Given the description of an element on the screen output the (x, y) to click on. 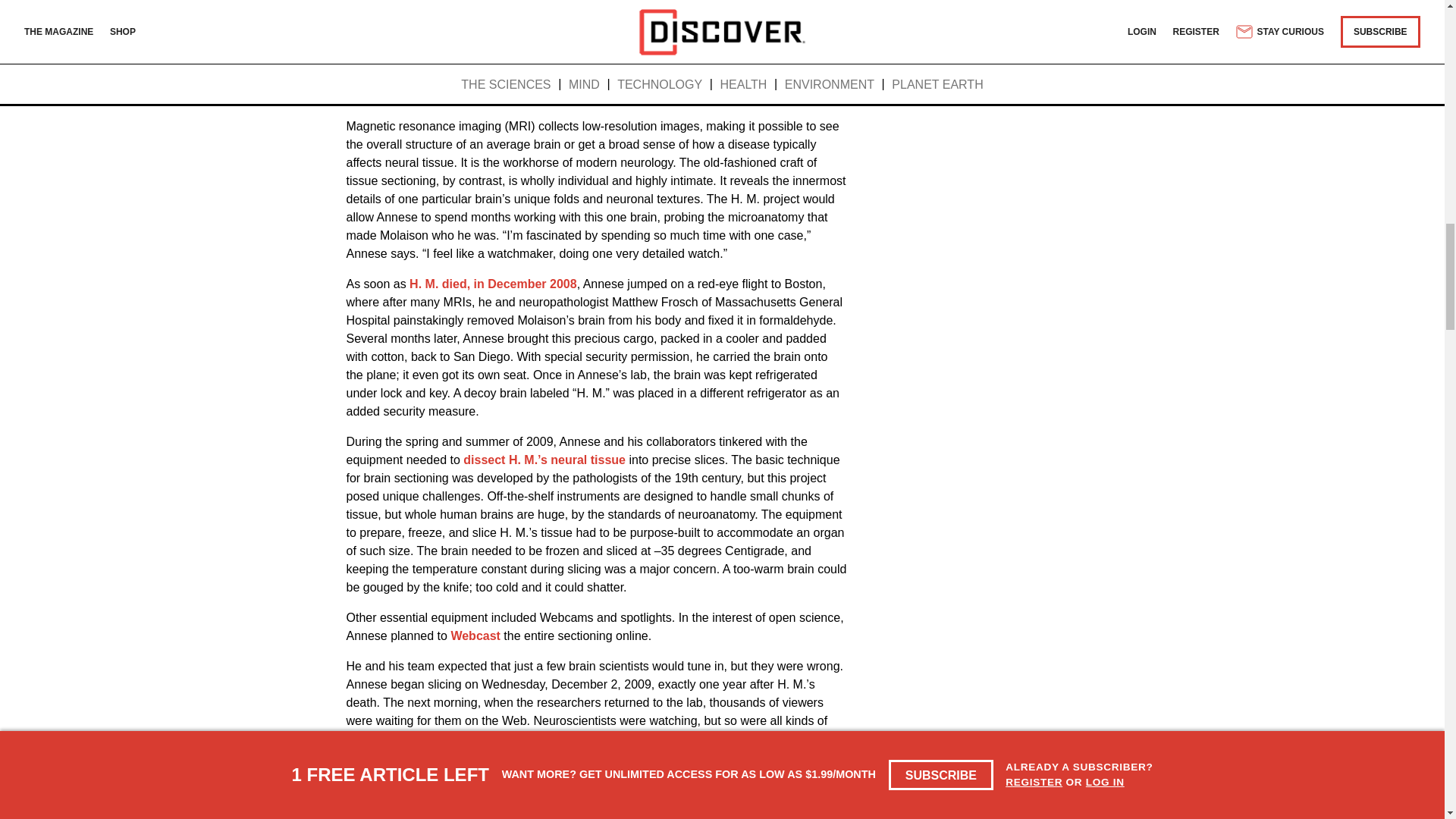
H. M. died, in December 2008 (492, 283)
via blog (483, 738)
Webcast (474, 635)
Brain Observatory (760, 22)
